Given the description of an element on the screen output the (x, y) to click on. 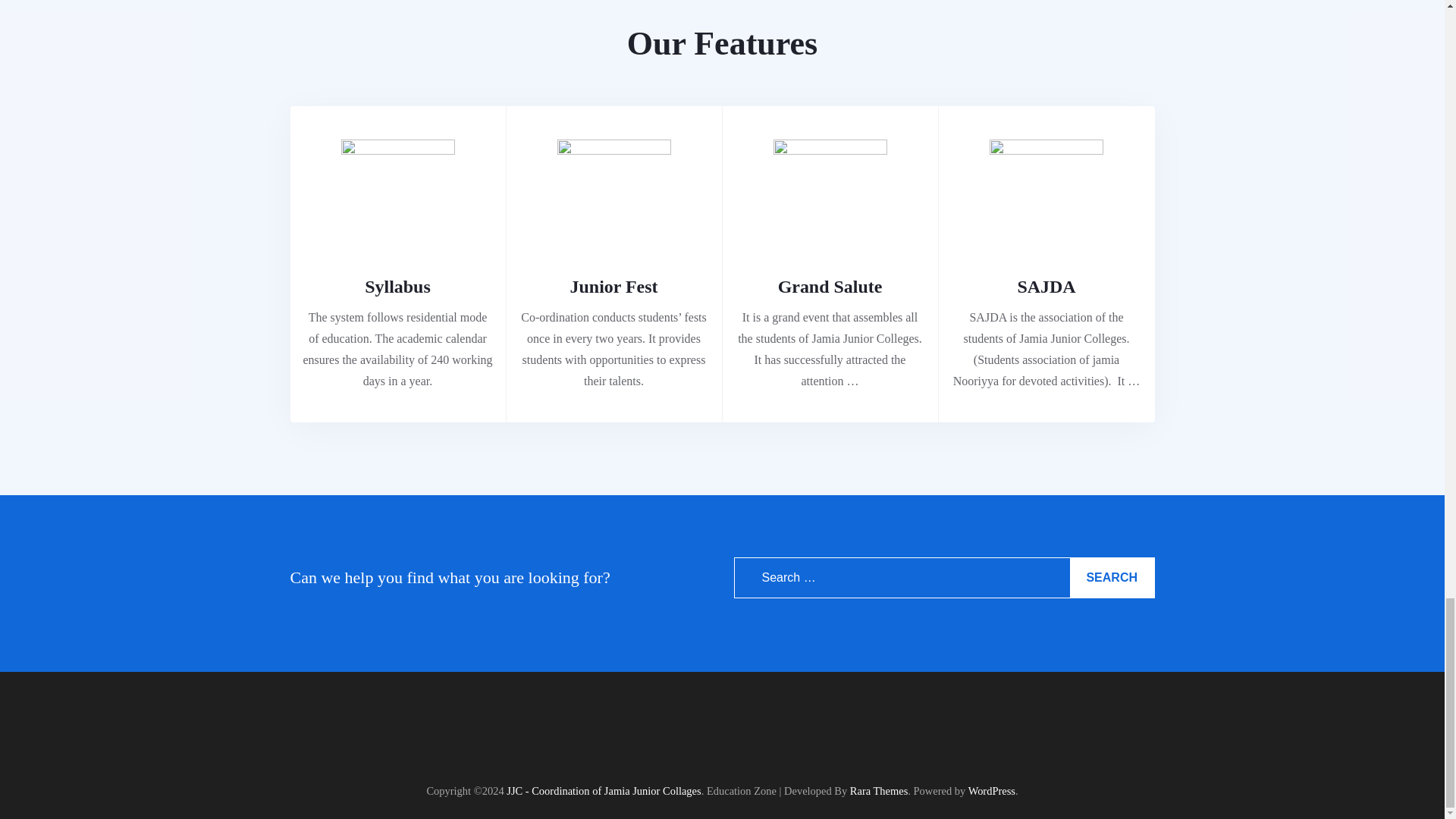
Search (1112, 577)
Syllabus (397, 286)
Junior Fest (614, 286)
Search (1112, 577)
